Given the description of an element on the screen output the (x, y) to click on. 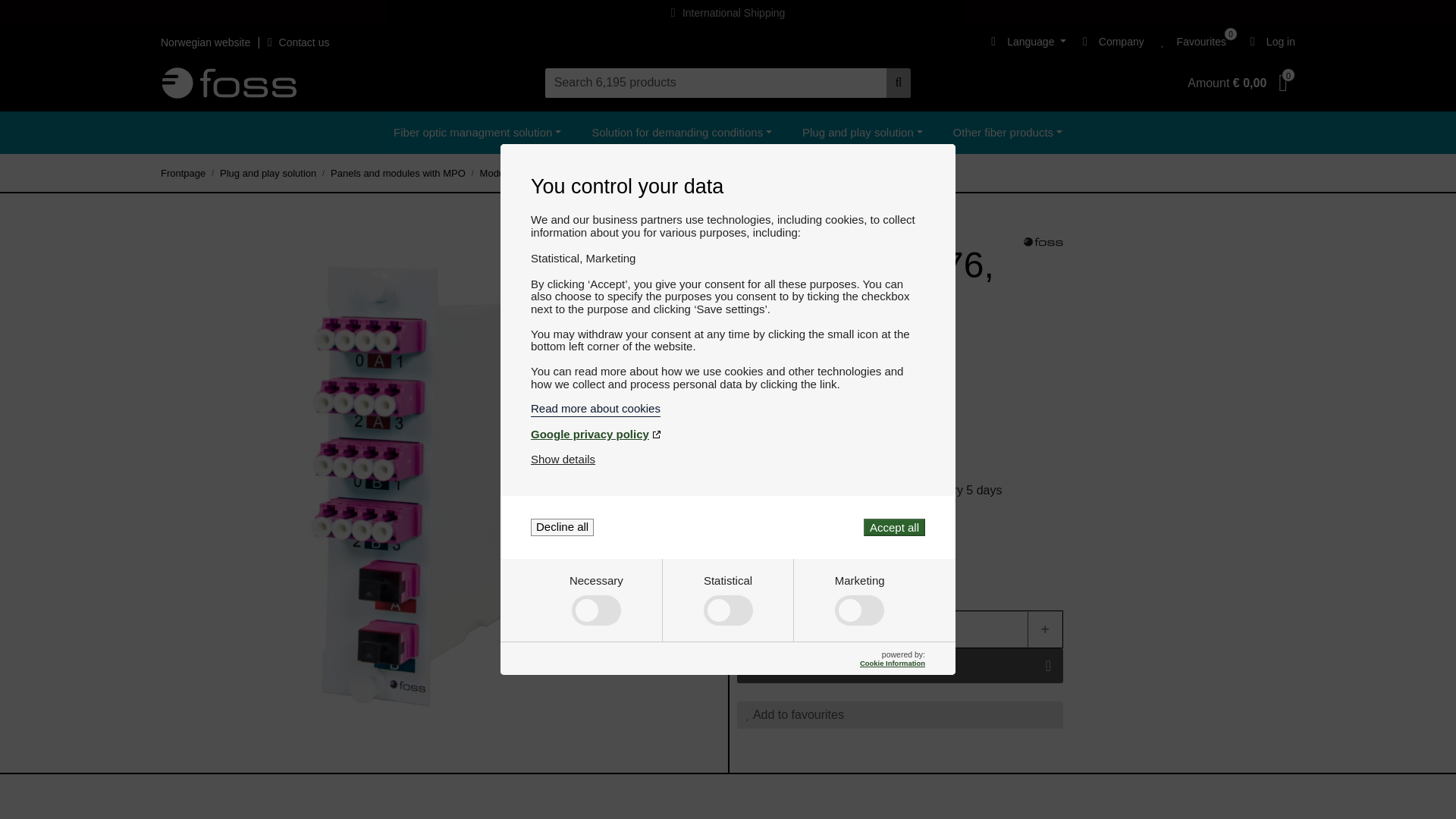
Google privacy policy (727, 433)
Show details (563, 459)
Accept all (893, 527)
Read more about cookies (727, 408)
Decline all (562, 527)
Cookie Information (892, 663)
1 (898, 628)
